Given the description of an element on the screen output the (x, y) to click on. 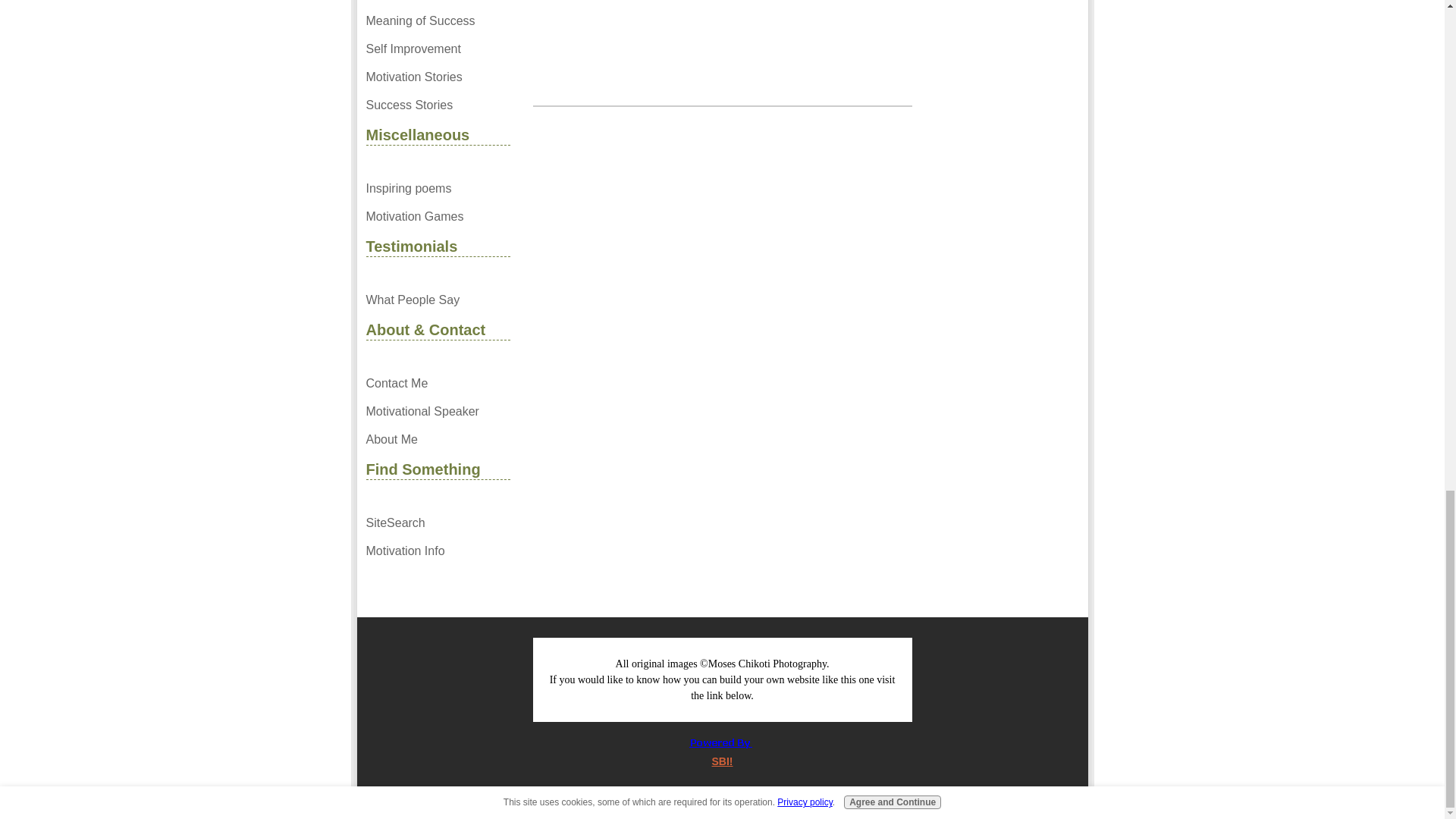
SiteSearch (437, 523)
Self Improvement (437, 49)
Motivation Stories (437, 77)
Inspiring poems (437, 188)
Meaning of Success (437, 21)
About Me (437, 439)
Motivation Articles (437, 2)
Success Stories (437, 104)
Motivation Games (437, 216)
Contact Me (437, 383)
Motivational Speaker (437, 411)
What People Say (437, 299)
